Given the description of an element on the screen output the (x, y) to click on. 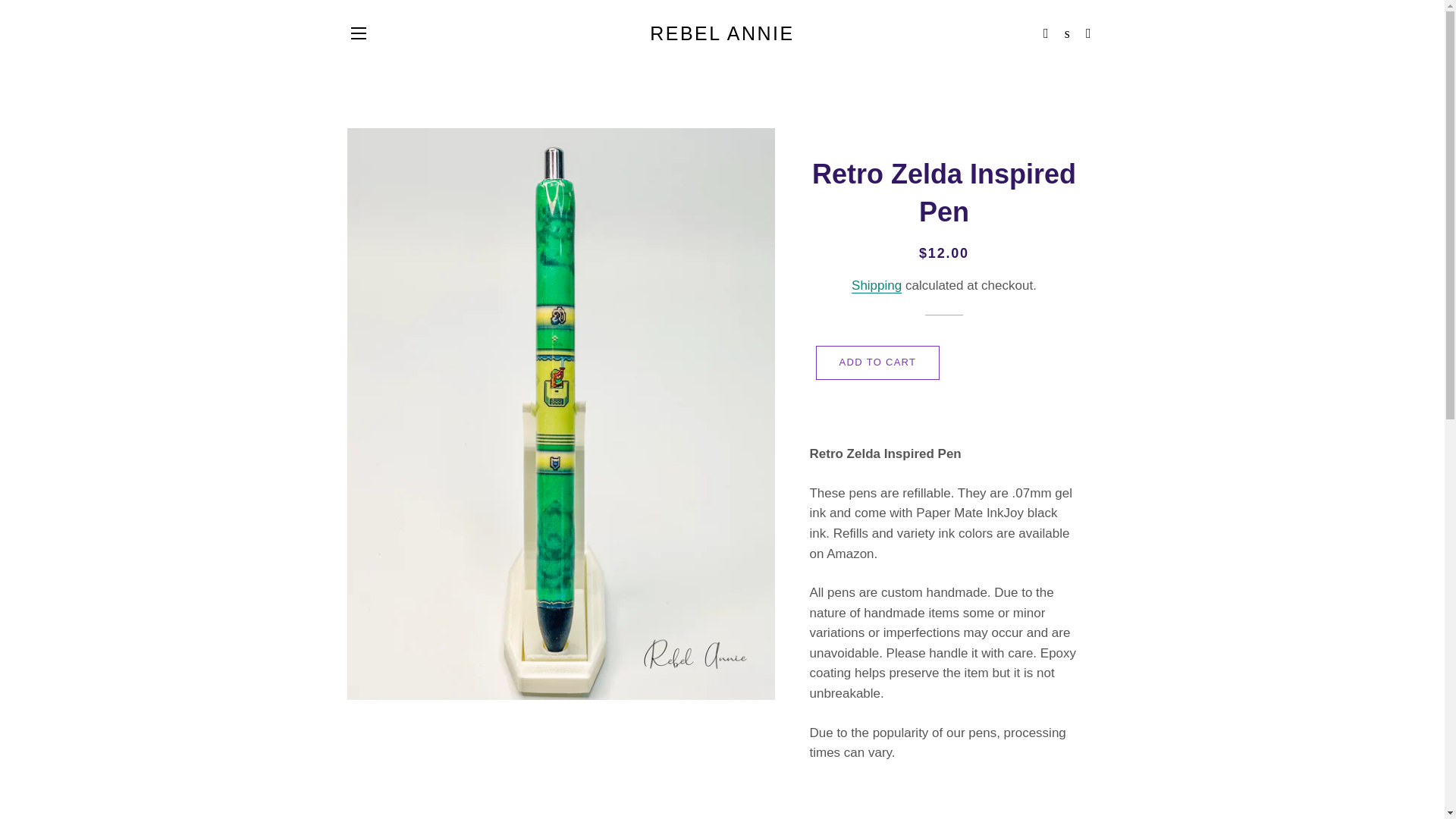
SITE NAVIGATION (1000, 818)
Pin on Pinterest (358, 33)
REBEL ANNIE (889, 818)
Tweet on Twitter (1000, 818)
ADD TO CART (946, 818)
Share on Facebook (721, 33)
Shipping (946, 818)
